Given the description of an element on the screen output the (x, y) to click on. 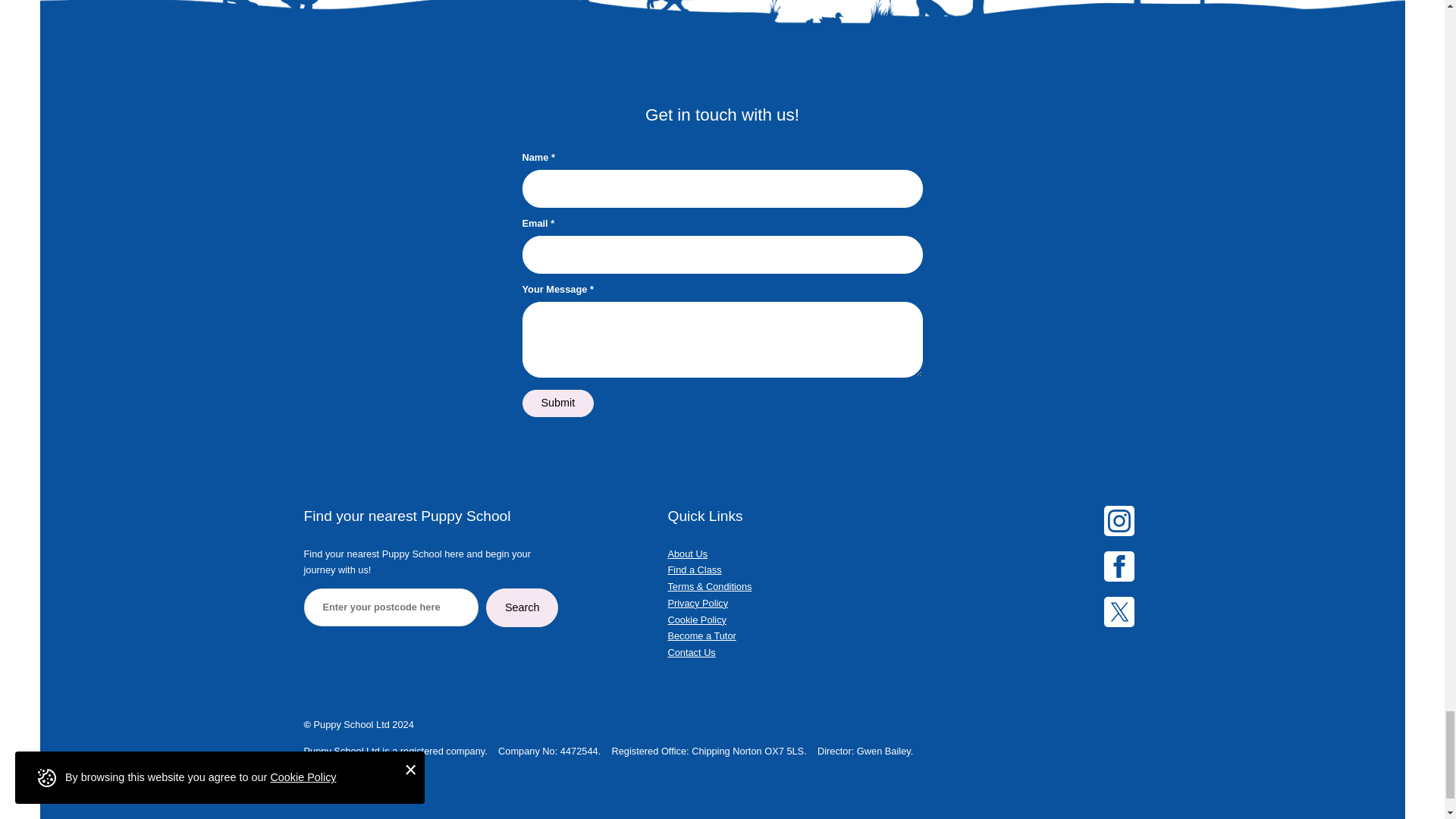
Submit (557, 402)
About Us (686, 553)
Search (522, 607)
Find a Class (693, 569)
Cookie Policy (696, 619)
Become a Tutor (700, 635)
Privacy Policy (697, 603)
